Given the description of an element on the screen output the (x, y) to click on. 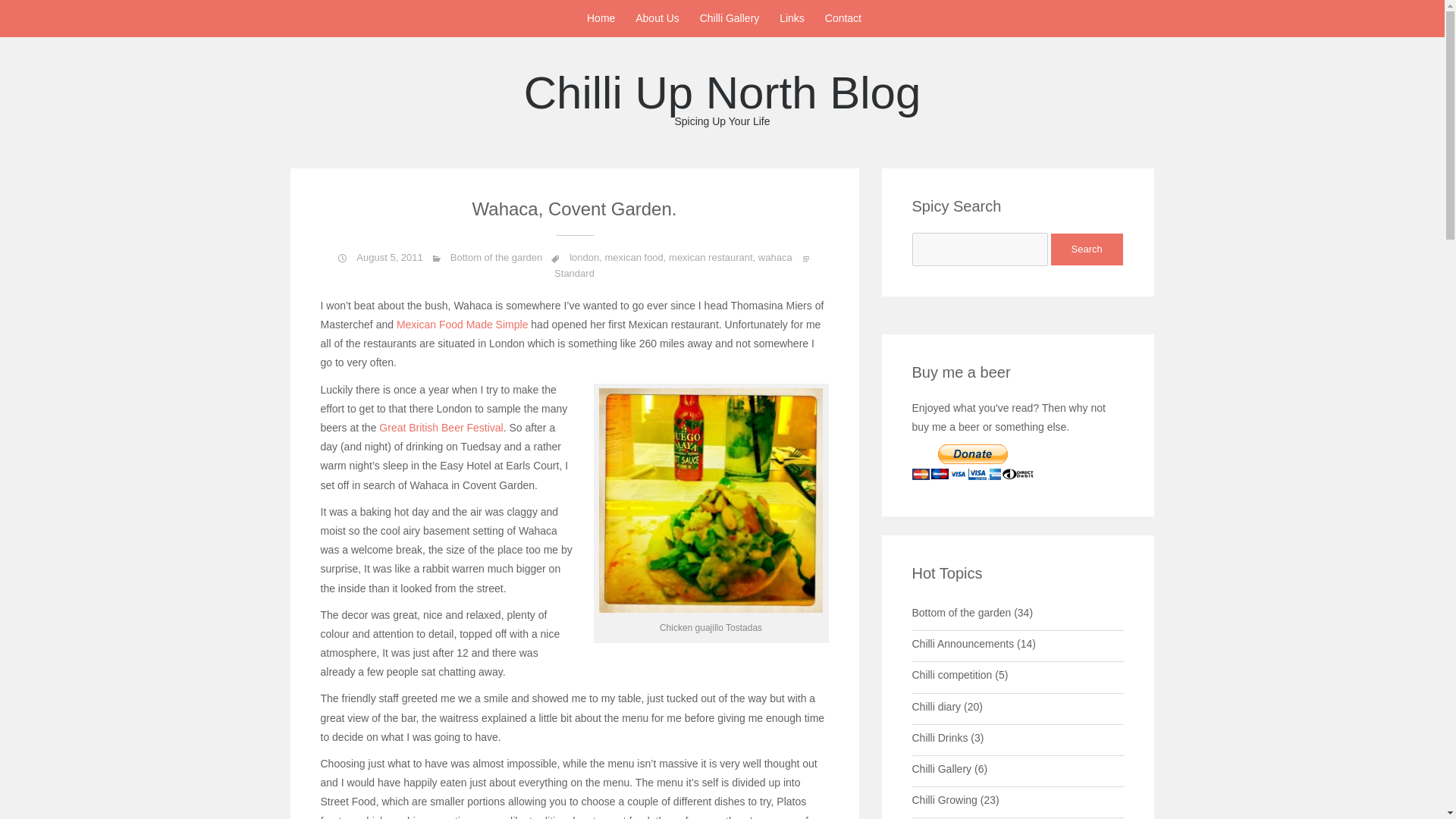
mexican food (721, 98)
Chilli Drinks (634, 256)
Chilli Gallery (939, 737)
Home (941, 768)
Chilli diary (601, 18)
Great british beer festival (935, 706)
Mexican Food Made Simple (438, 427)
Chilli competition (462, 324)
Search (951, 674)
Chilli Growing (1086, 249)
Bottom of the garden (943, 799)
Chilli Up North Blog (960, 612)
Search (721, 98)
Links (1086, 249)
